Given the description of an element on the screen output the (x, y) to click on. 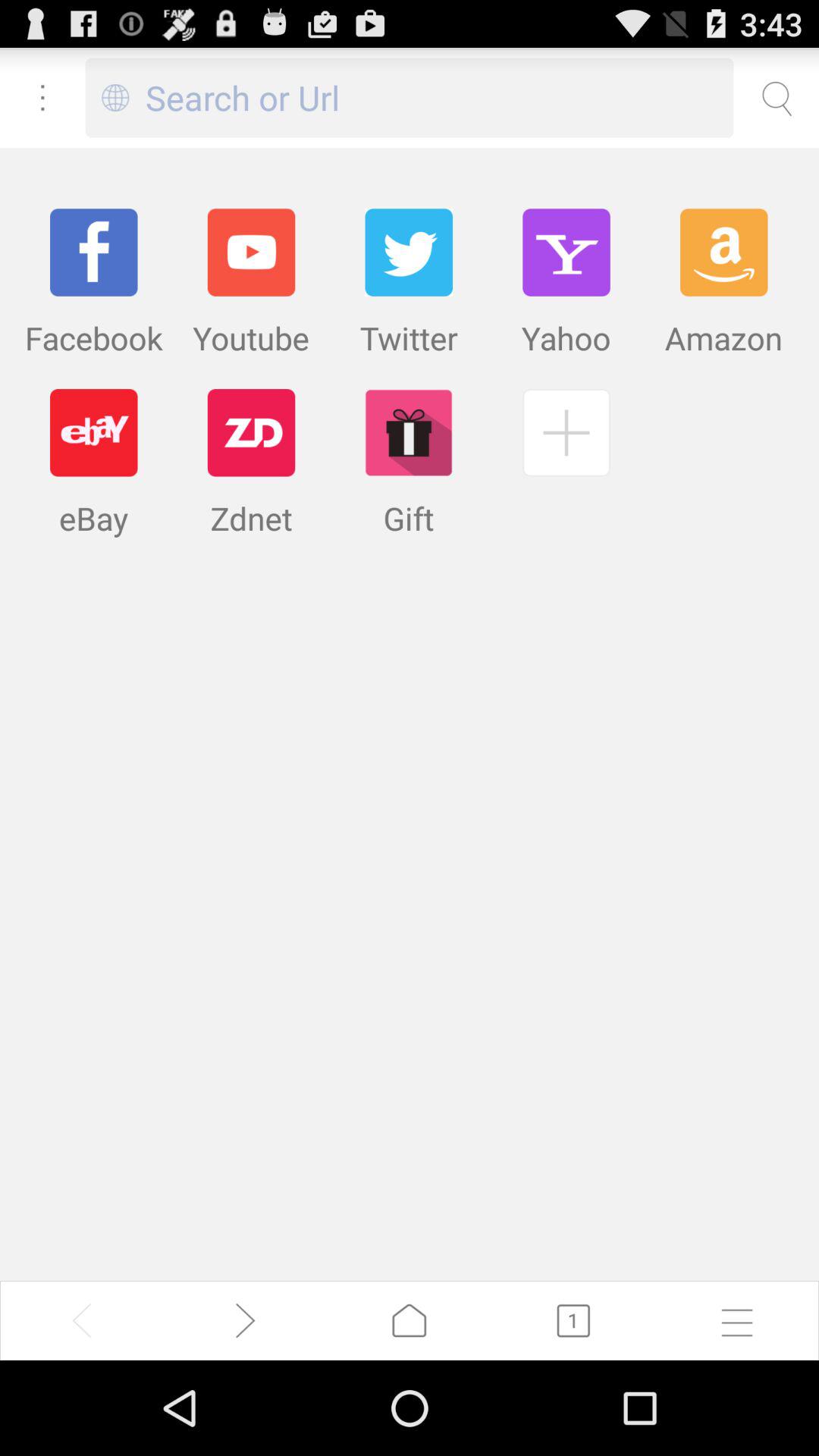
click search or url (439, 97)
